Given the description of an element on the screen output the (x, y) to click on. 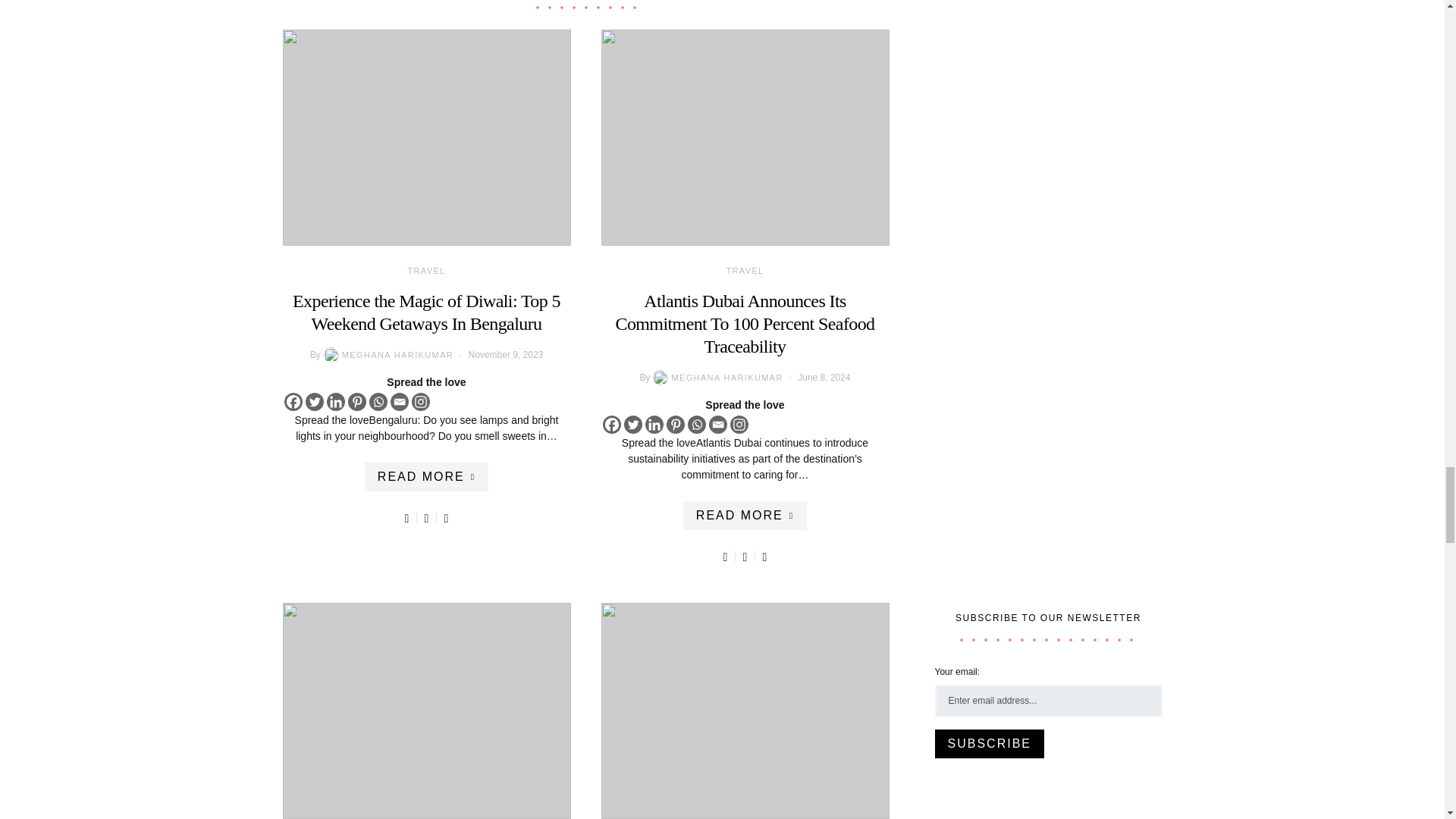
Linkedin (334, 402)
Facebook (292, 402)
Instagram (419, 402)
Pinterest (356, 402)
Whatsapp (377, 402)
View all posts by Meghana Harikumar (386, 354)
Email (398, 402)
Twitter (313, 402)
